Given the description of an element on the screen output the (x, y) to click on. 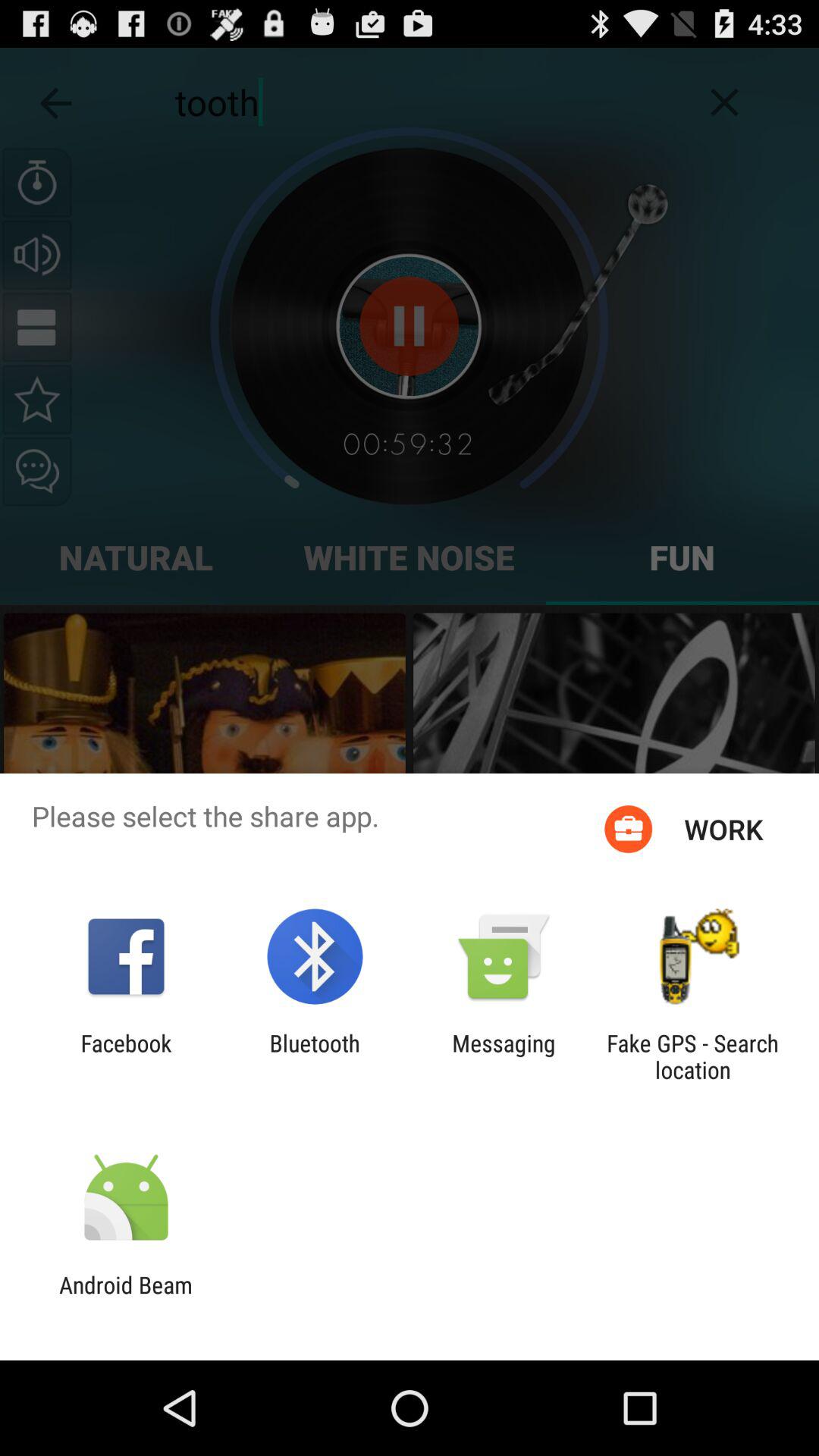
flip to android beam icon (125, 1298)
